Given the description of an element on the screen output the (x, y) to click on. 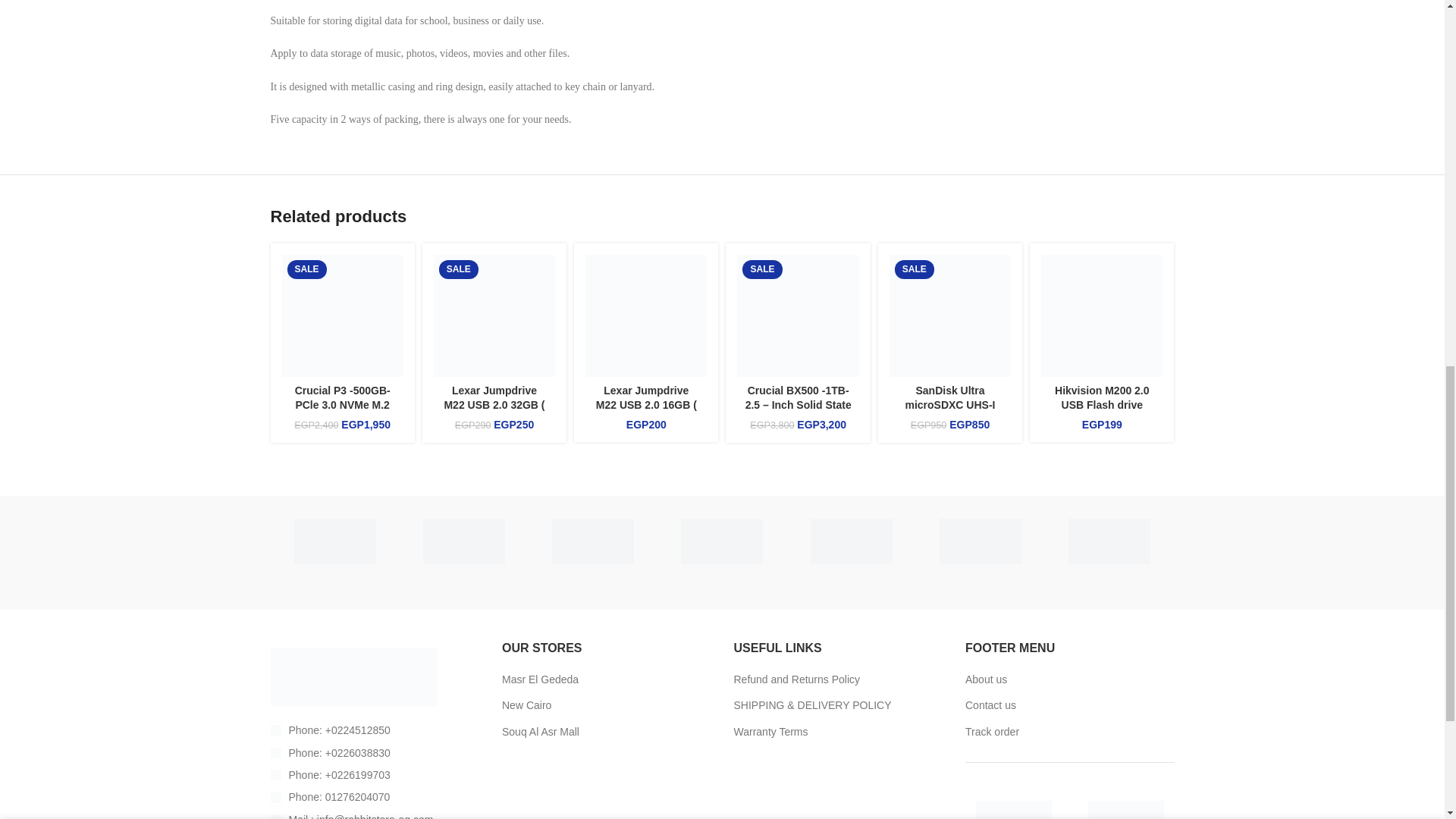
PLAYSTATION (463, 541)
KINGSTON (593, 541)
Google (722, 541)
RECCI (333, 541)
